Given the description of an element on the screen output the (x, y) to click on. 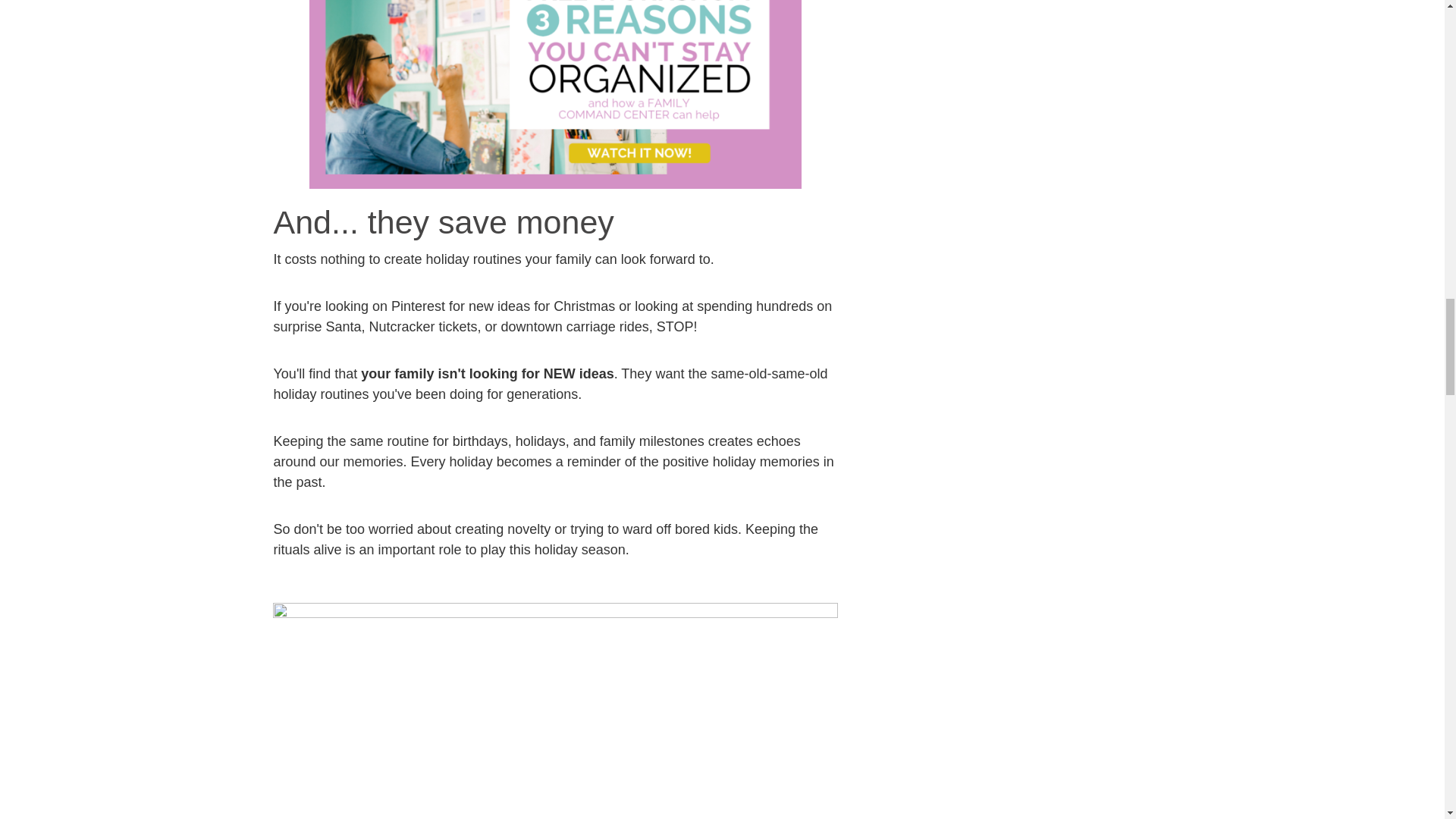
Hanukkah (555, 710)
